Given the description of an element on the screen output the (x, y) to click on. 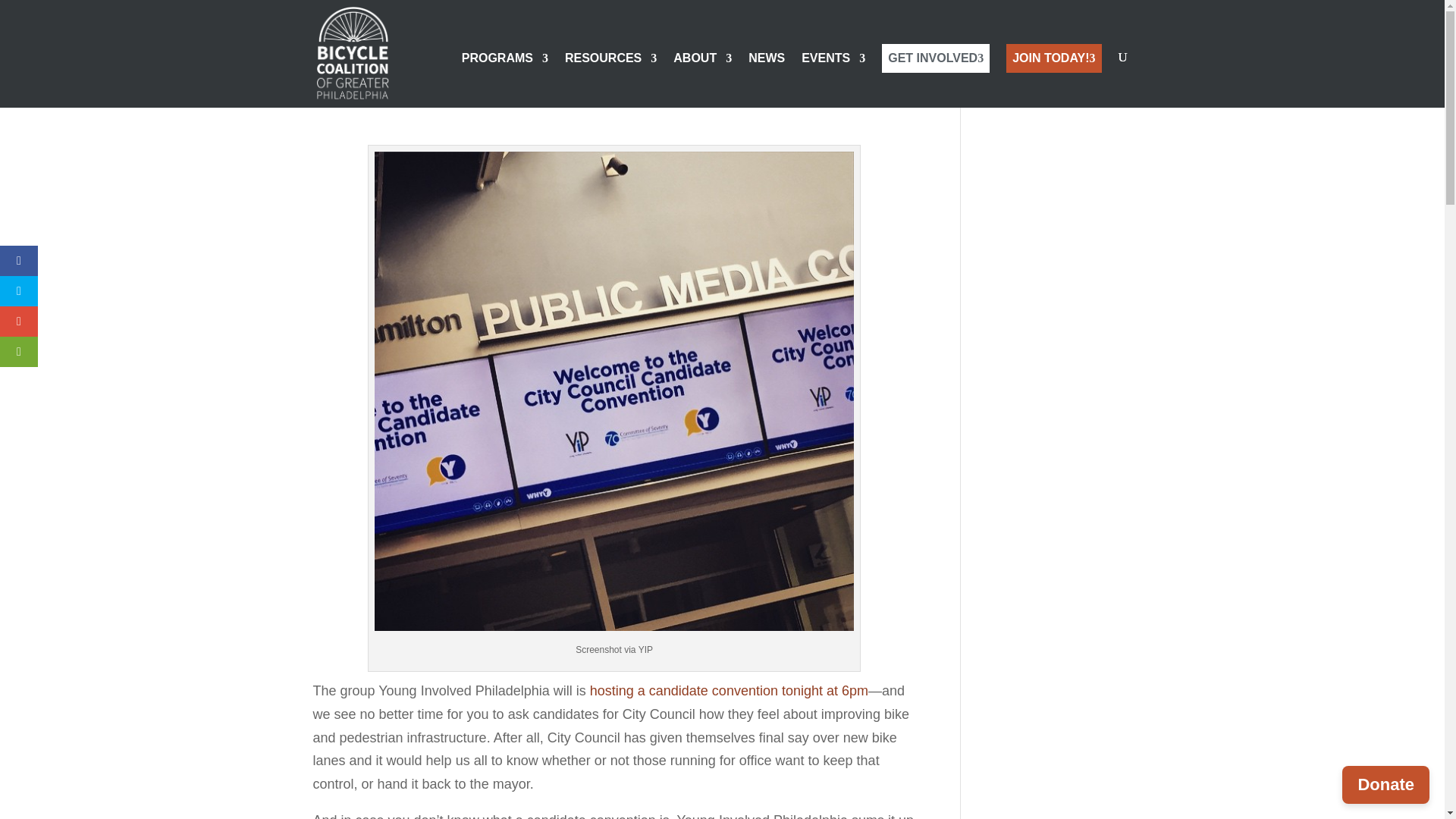
Search (1106, 85)
RESOURCES (610, 80)
Posts by Bicycle Coalition (365, 94)
ABOUT (702, 80)
PROGRAMS (504, 80)
